Given the description of an element on the screen output the (x, y) to click on. 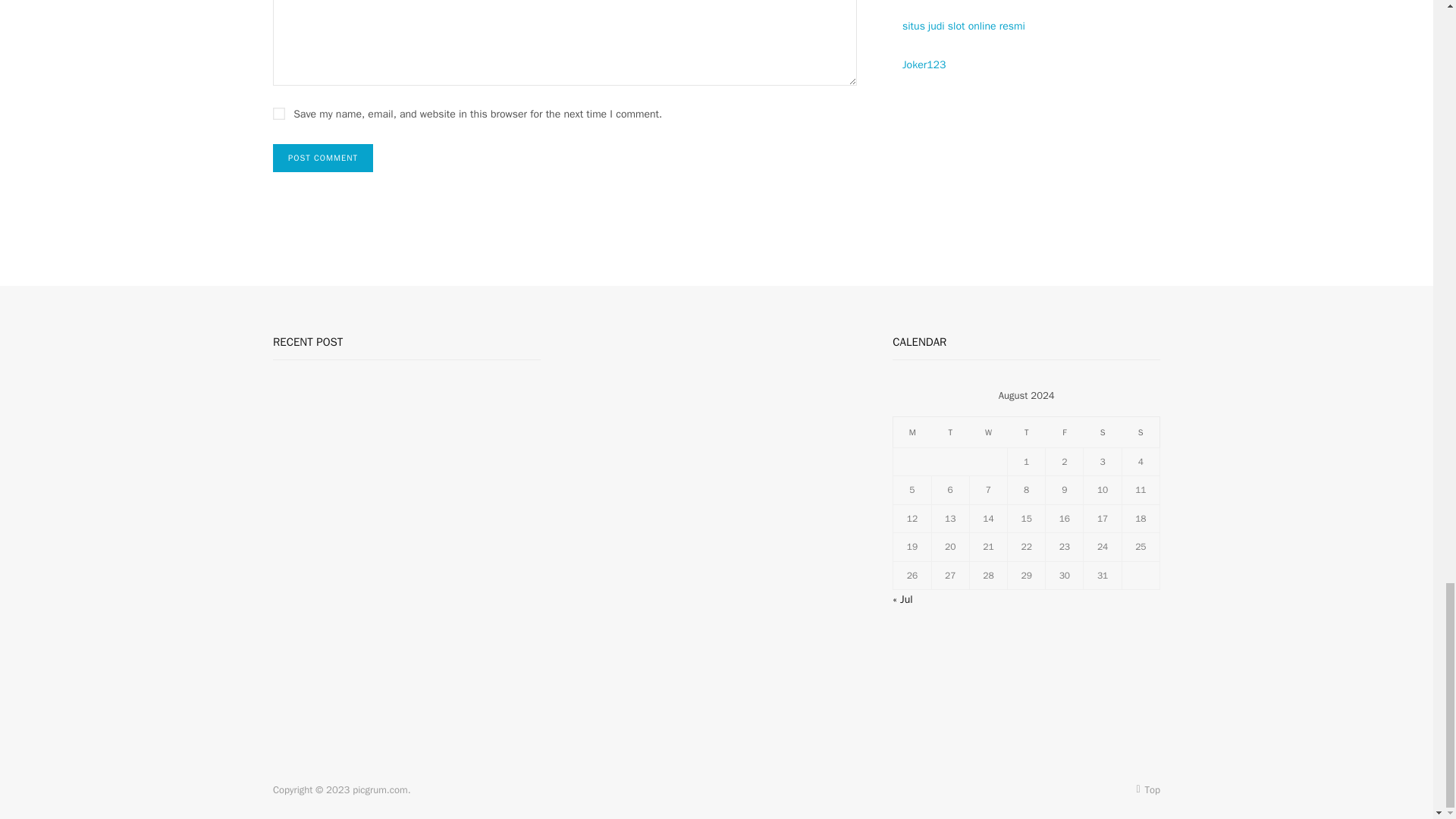
Post Comment (322, 157)
Monday (912, 431)
Post Comment (322, 157)
yes (279, 113)
Wednesday (988, 431)
Tuesday (950, 431)
